Given the description of an element on the screen output the (x, y) to click on. 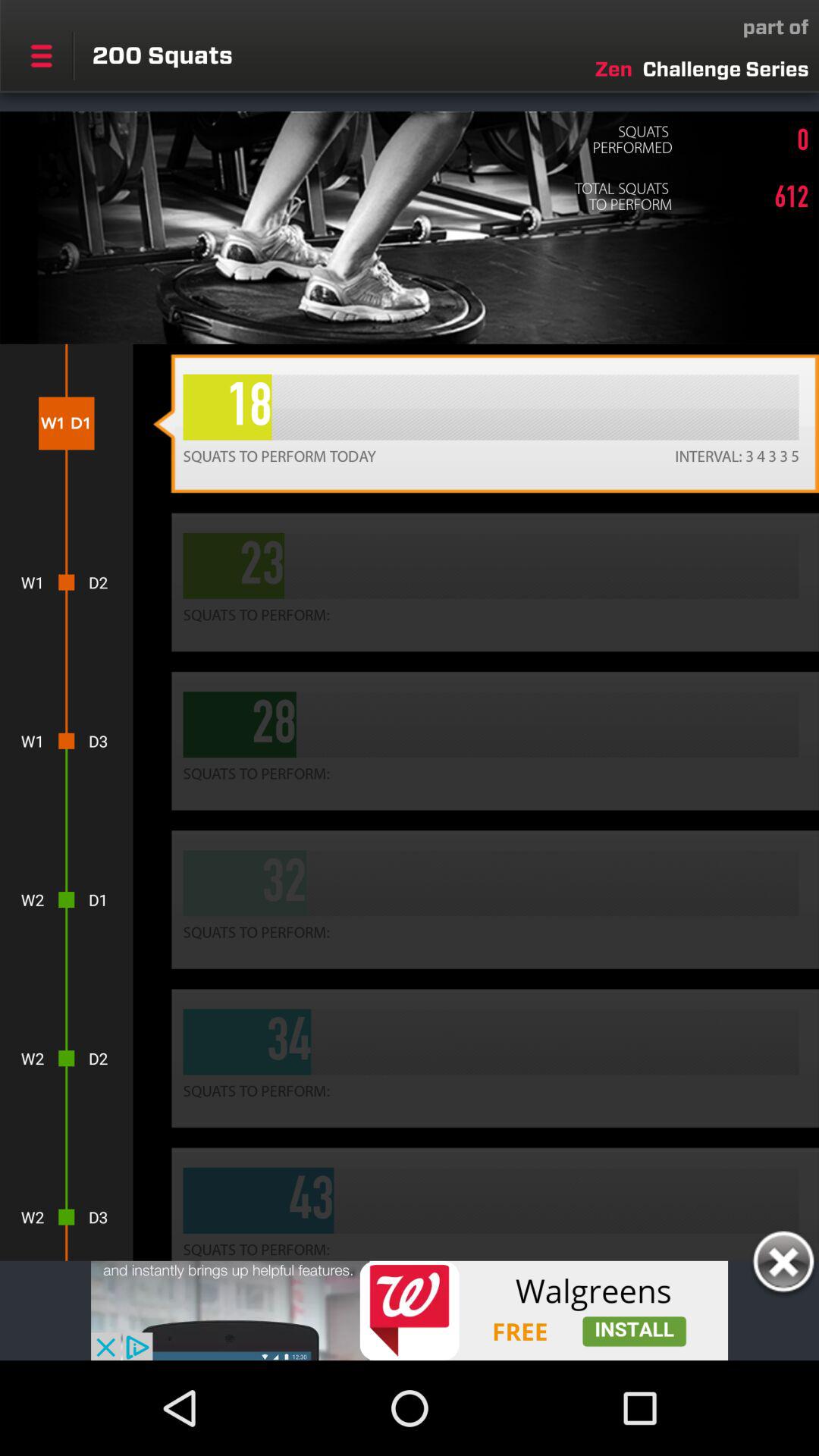
close advertisement (783, 1264)
